Given the description of an element on the screen output the (x, y) to click on. 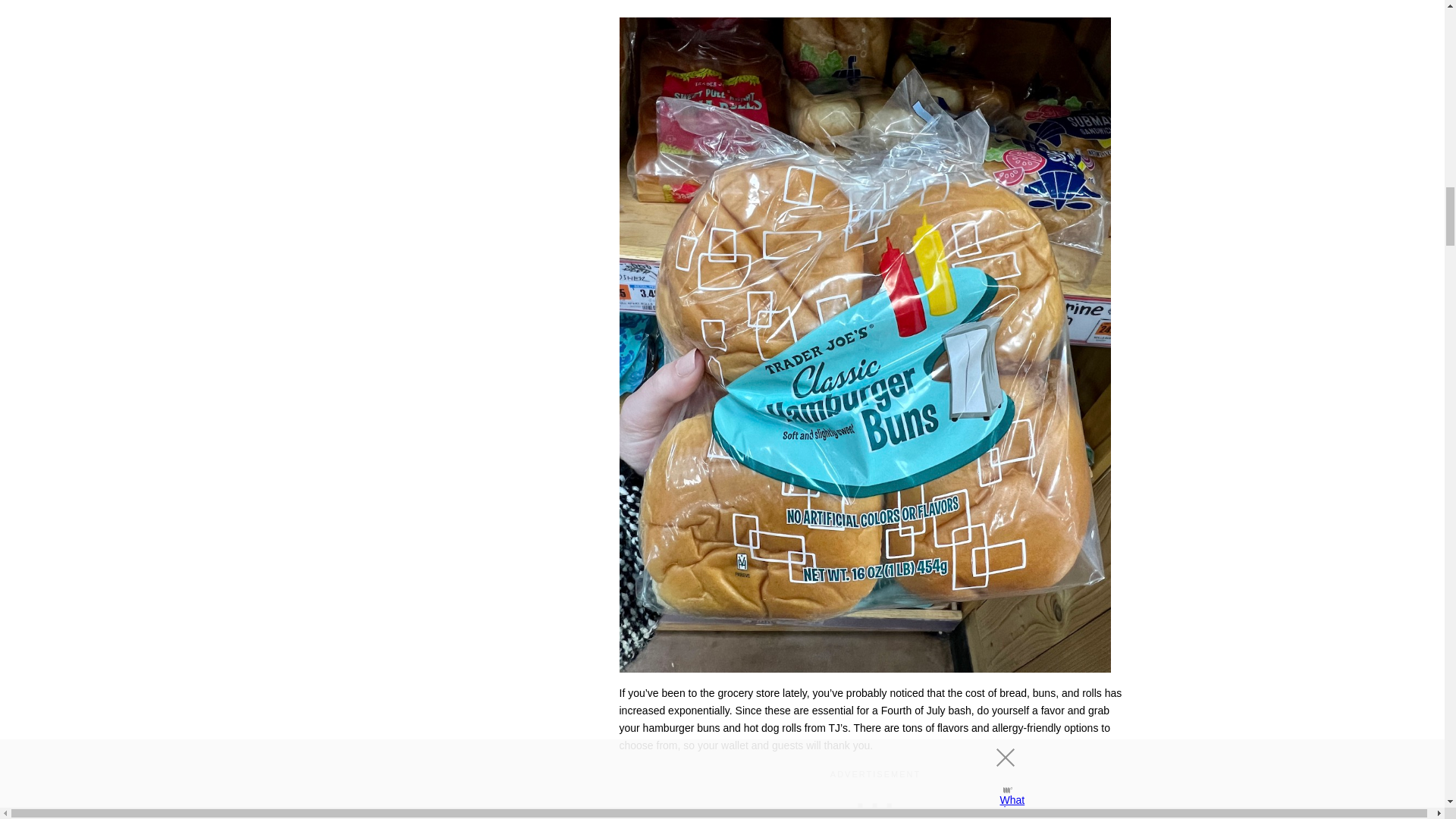
3rd party ad content (874, 800)
